Given the description of an element on the screen output the (x, y) to click on. 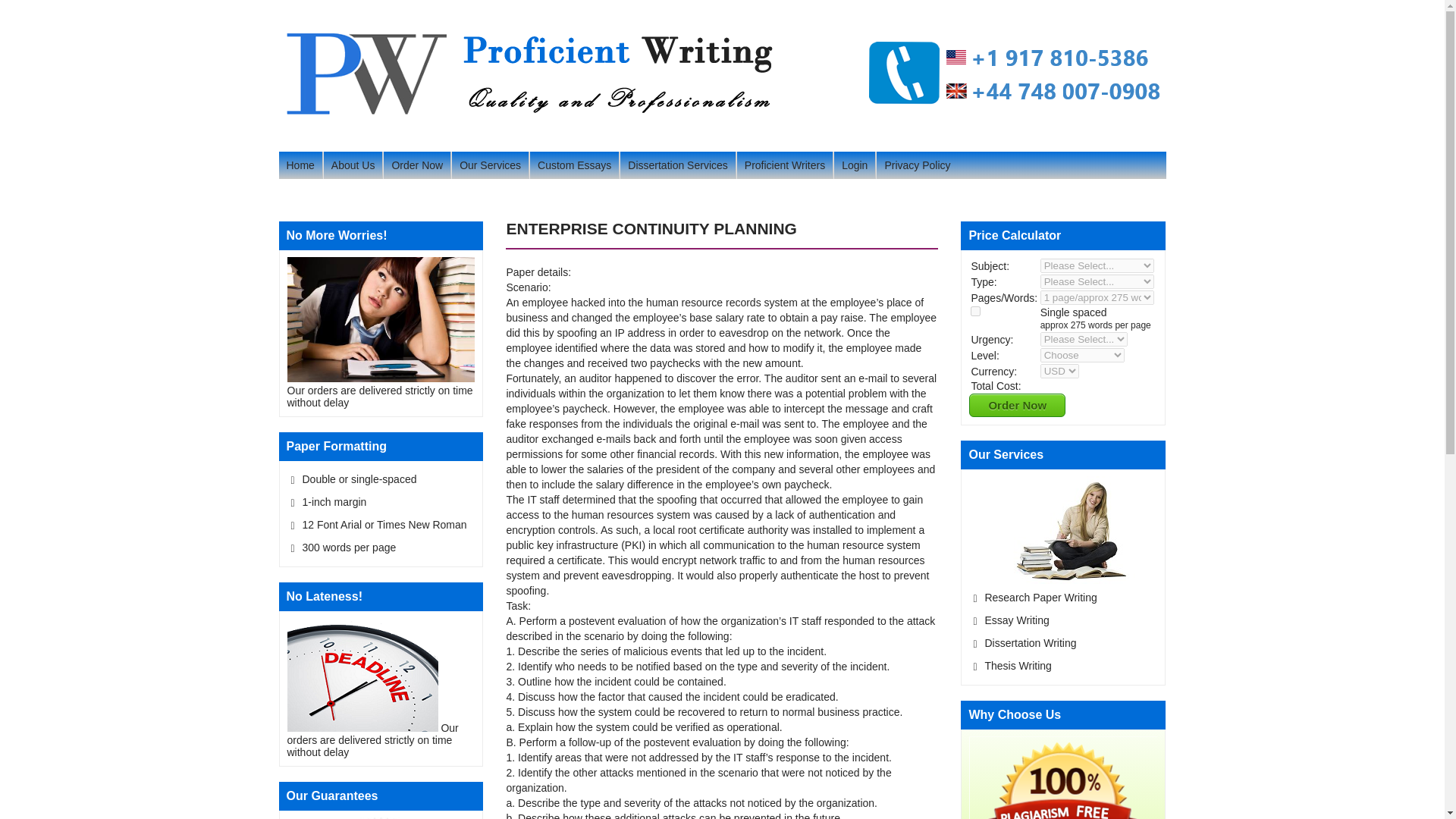
Dissertation Services (677, 165)
Proficient Writers (784, 165)
1 (975, 311)
Login (854, 165)
Custom Essays (573, 165)
Subject area (1097, 265)
Order Now (416, 165)
Number of pages (1097, 297)
About Us (352, 165)
Academic level (1082, 355)
Home (300, 165)
Order Now (1017, 404)
Our Services (489, 165)
Paper urgency (1083, 339)
Privacy Policy (917, 165)
